Given the description of an element on the screen output the (x, y) to click on. 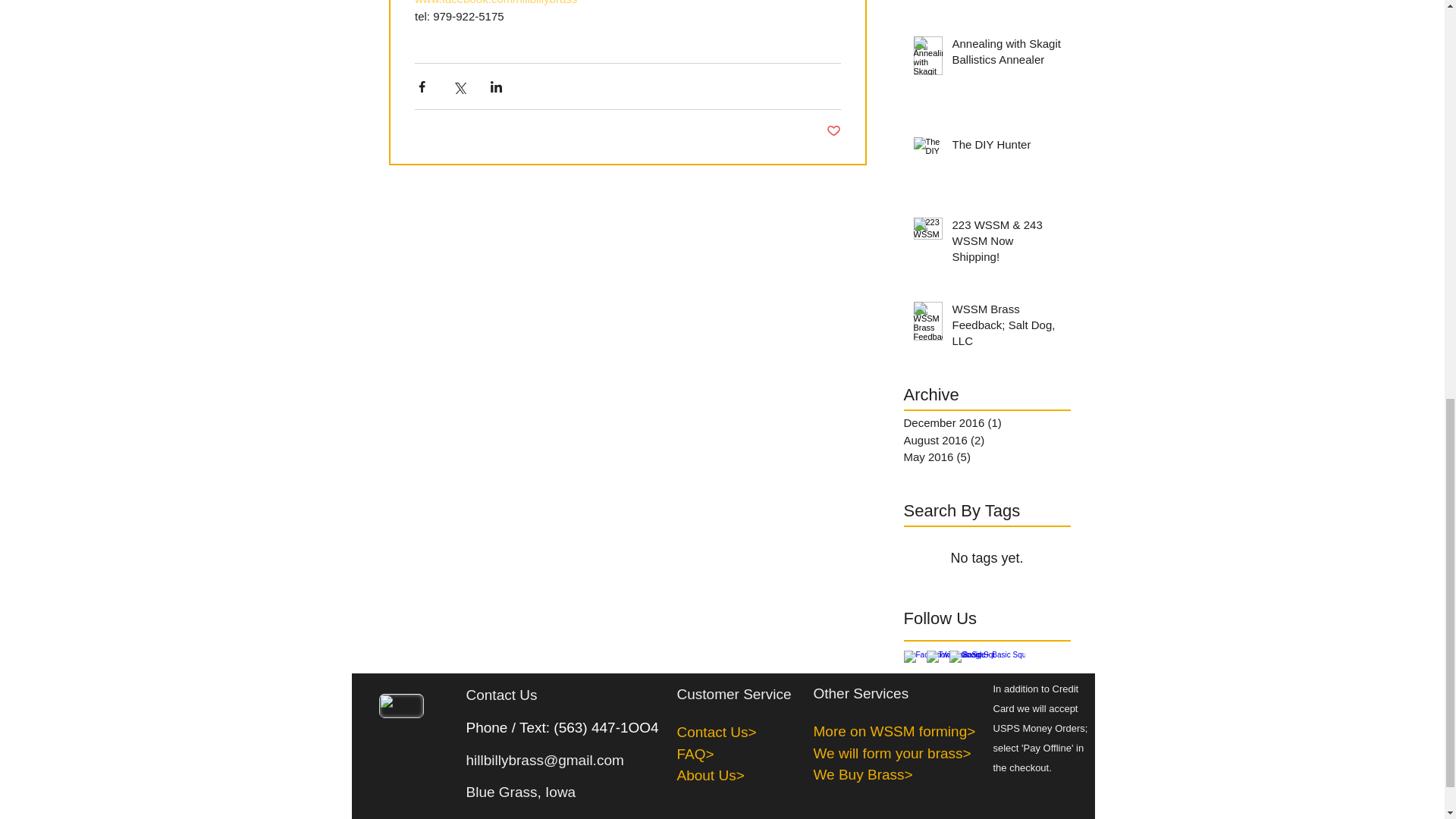
Annealing with Skagit Ballistics Annealer (1006, 54)
The DIY Hunter (1006, 147)
WSSM Brass Feedback; Salt Dog, LLC (1006, 327)
Post not marked as liked (834, 131)
